Given the description of an element on the screen output the (x, y) to click on. 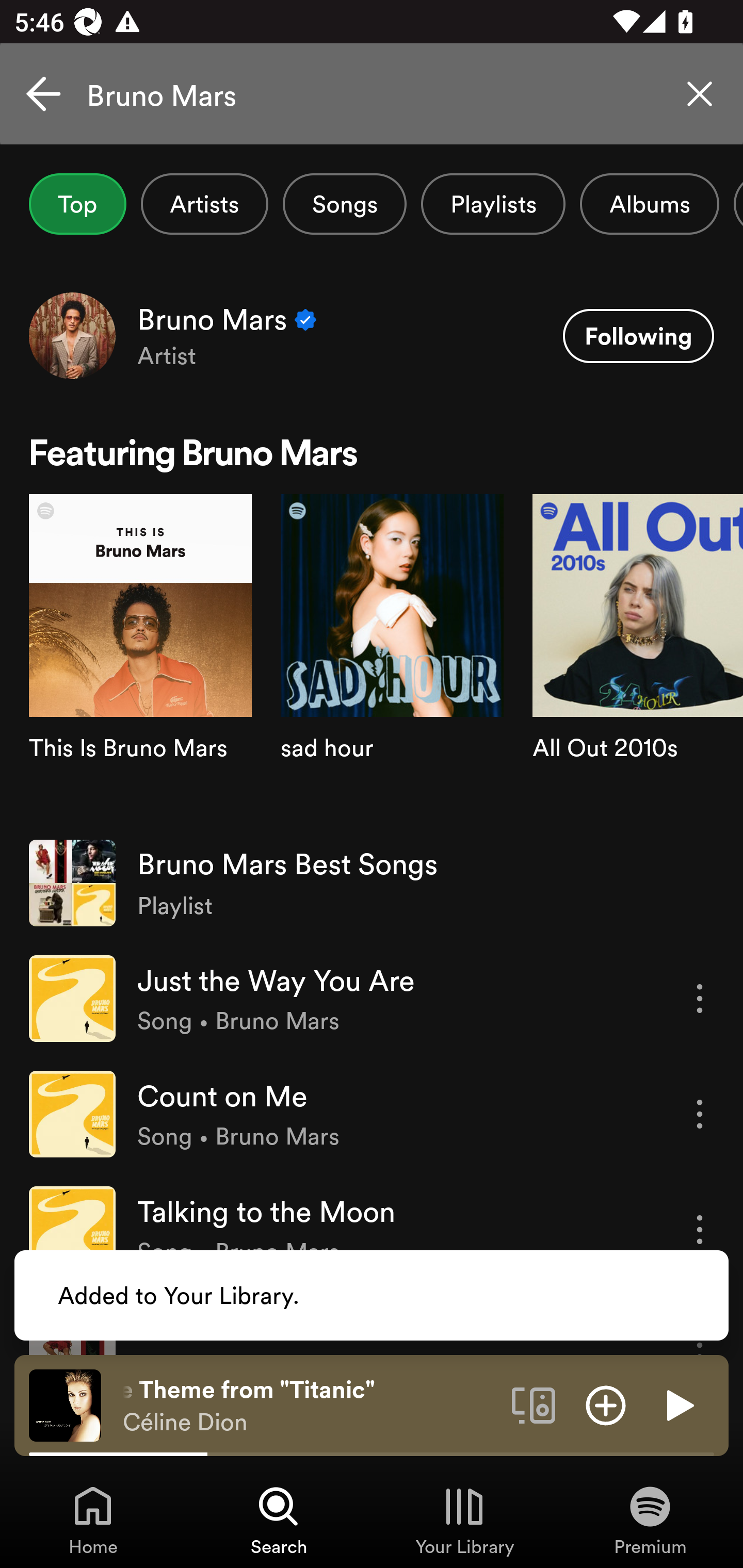
Bruno Mars (371, 93)
Cancel (43, 93)
Clear search query (699, 93)
Top (77, 203)
Artists (204, 203)
Songs (344, 203)
Playlists (493, 203)
Albums (649, 203)
Bruno Mars Verified Artist Following Unfollow (371, 335)
Following Unfollow (638, 335)
Search card image This Is Bruno Mars (139, 658)
Search card image sad hour (391, 658)
Search card image All Out 2010s (637, 658)
Bruno Mars Best Songs Playlist (371, 882)
More options for song Just the Way You Are (699, 997)
More options for song Count on Me (699, 1113)
More options for song Talking to the Moon (699, 1229)
The cover art of the currently playing track (64, 1404)
Connect to a device. Opens the devices menu (533, 1404)
Add item (605, 1404)
Play (677, 1404)
Home, Tab 1 of 4 Home Home (92, 1519)
Search, Tab 2 of 4 Search Search (278, 1519)
Your Library, Tab 3 of 4 Your Library Your Library (464, 1519)
Premium, Tab 4 of 4 Premium Premium (650, 1519)
